Given the description of an element on the screen output the (x, y) to click on. 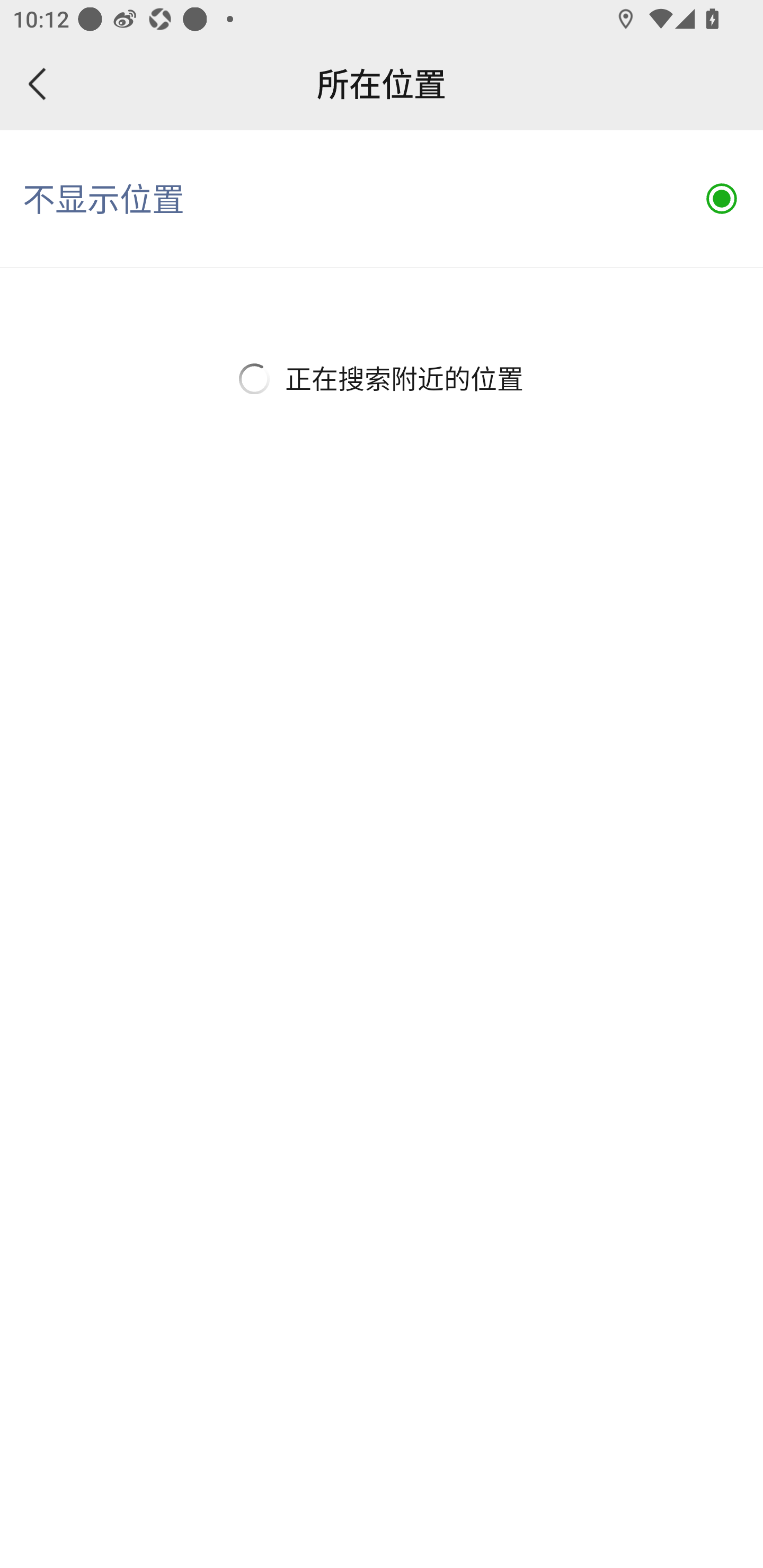
返回 (38, 83)
不显示位置 (381, 199)
正在搜索附近的位置 (381, 378)
